Given the description of an element on the screen output the (x, y) to click on. 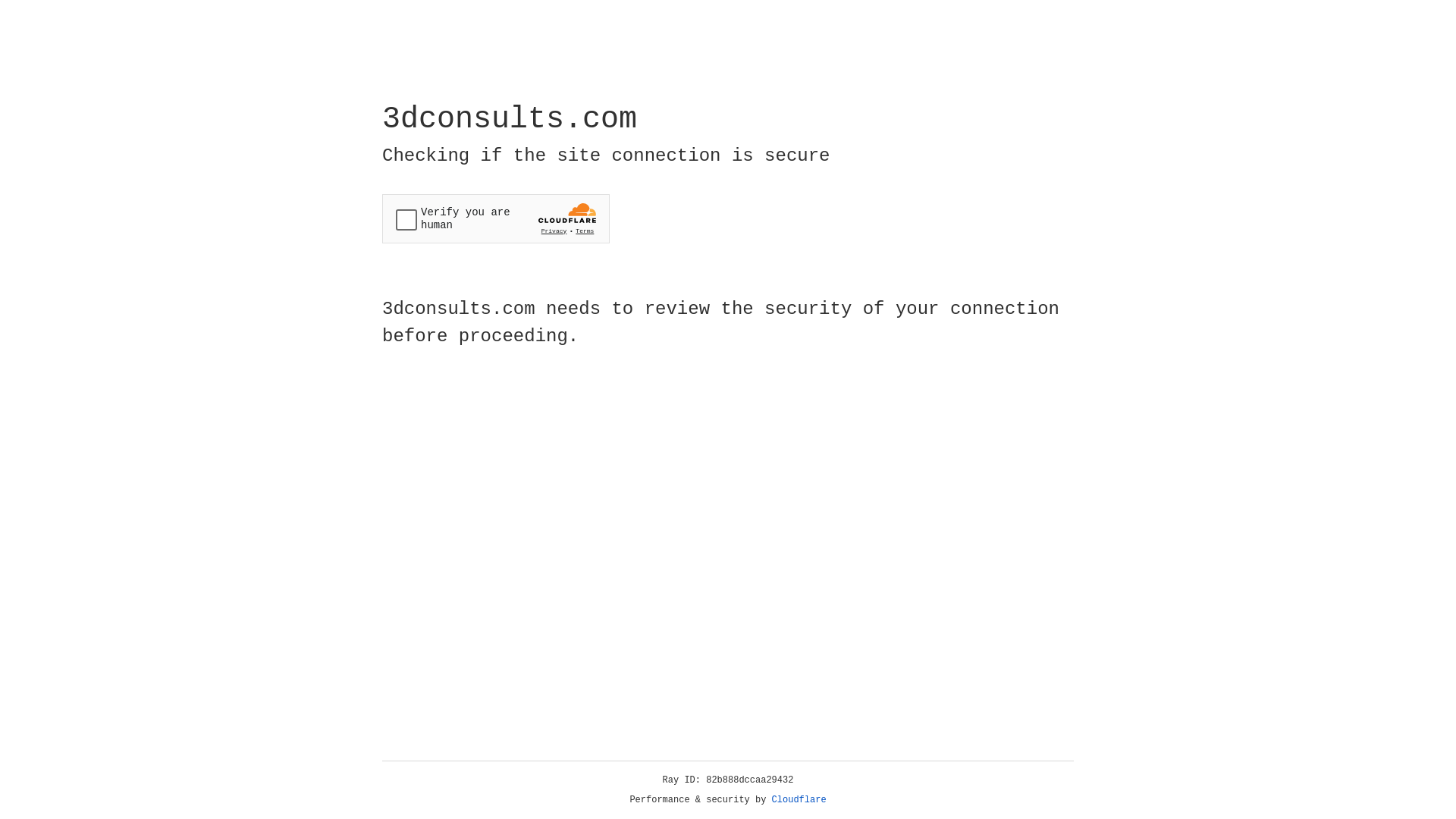
Widget containing a Cloudflare security challenge Element type: hover (495, 218)
Cloudflare Element type: text (798, 799)
